Given the description of an element on the screen output the (x, y) to click on. 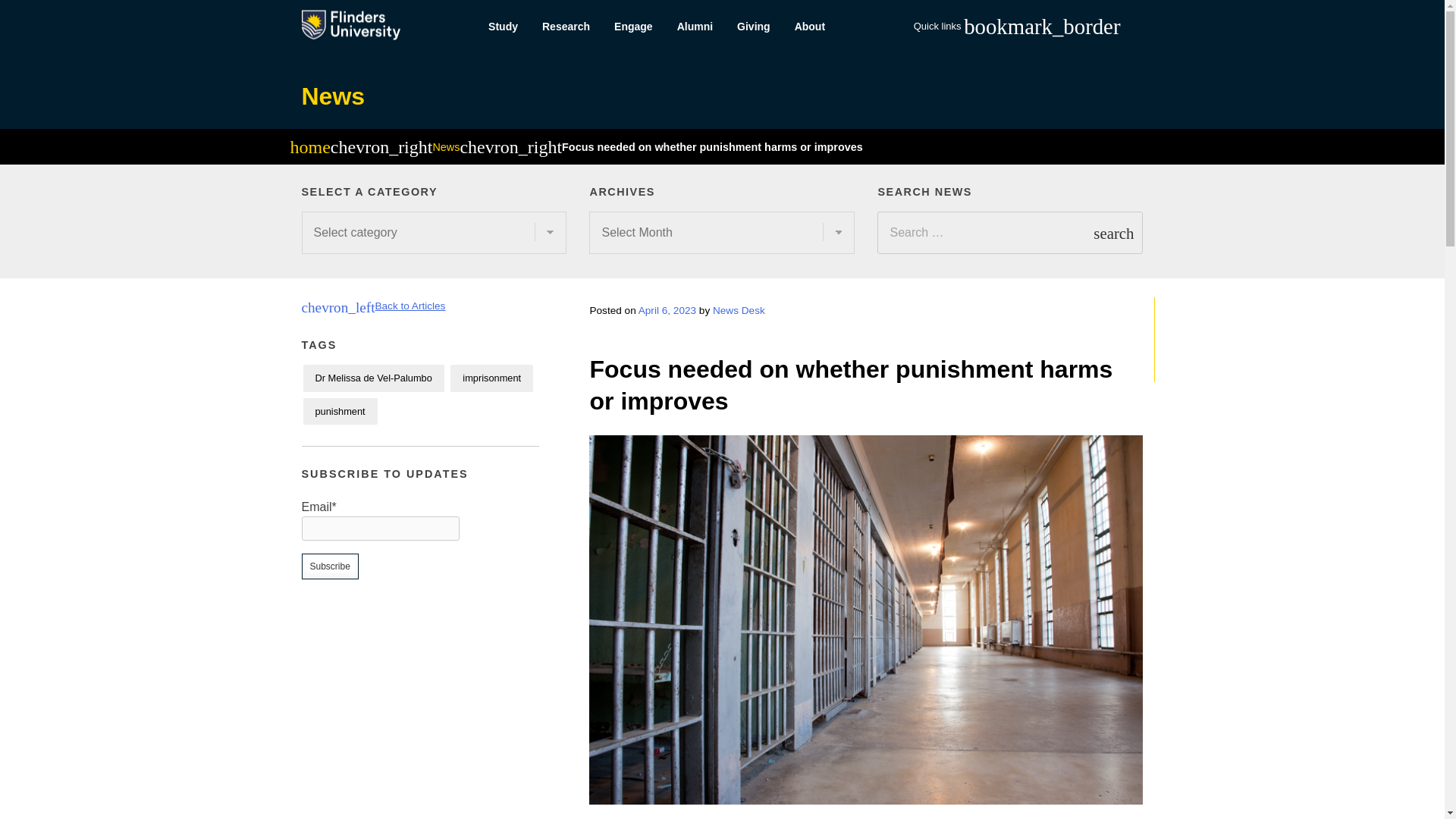
search (1113, 232)
Giving (754, 26)
punishment (339, 411)
News Desk (739, 310)
About (810, 26)
home (309, 149)
Study (502, 26)
imprisonment (490, 377)
BEDTIME CHANGES RAISE BLOOD PRESSURE (1194, 339)
Research (565, 26)
